Given the description of an element on the screen output the (x, y) to click on. 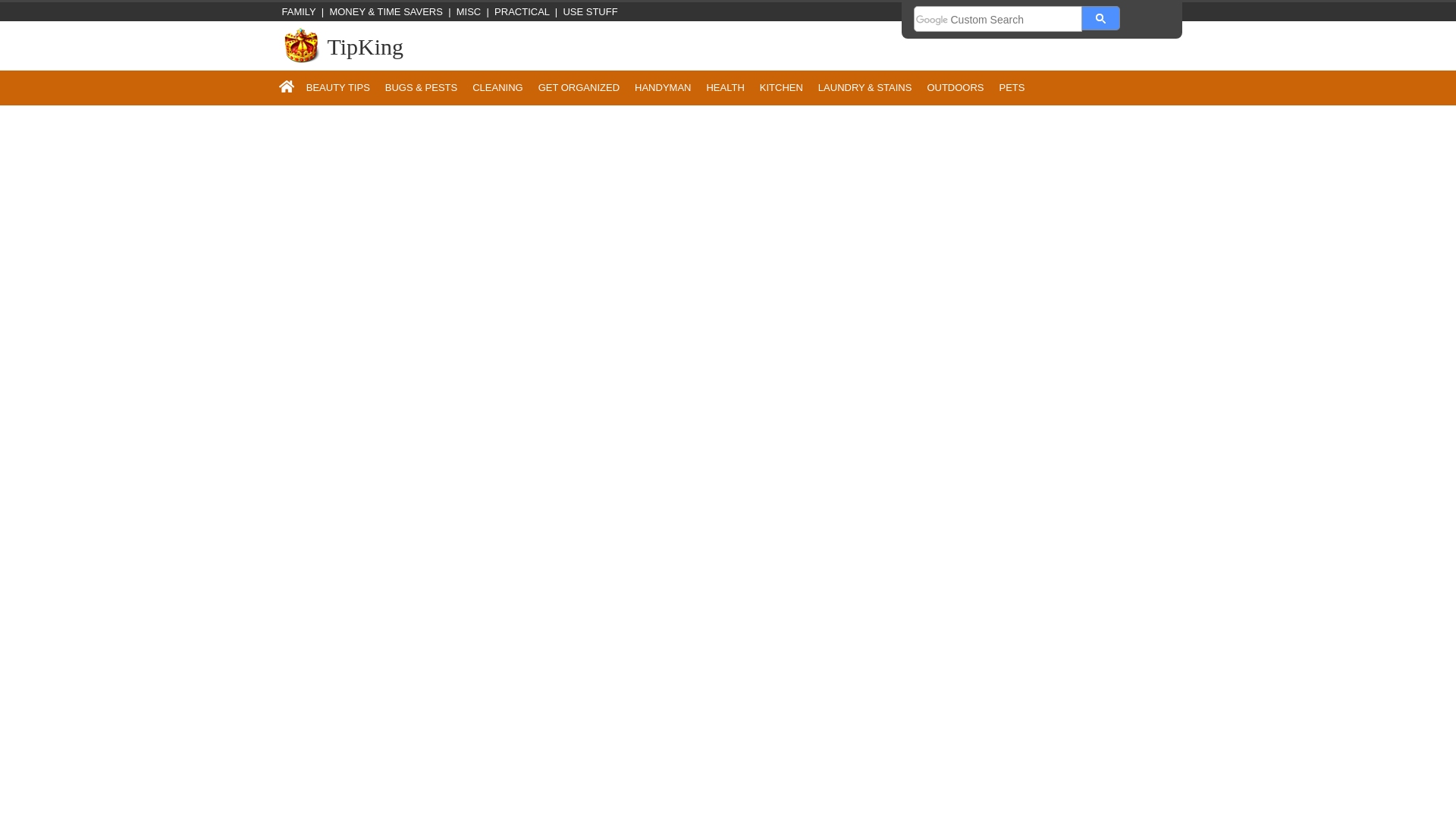
OUTDOORS (954, 87)
FAMILY (295, 11)
PETS (1011, 87)
BEAUTY TIPS (337, 87)
TipKing (365, 45)
GET ORGANIZED (579, 87)
MISC (469, 11)
USE STUFF (589, 11)
HEALTH (724, 87)
KITCHEN (781, 87)
CLEANING (496, 87)
PRACTICAL (521, 11)
search (997, 19)
HANDYMAN (662, 87)
search (1100, 17)
